Given the description of an element on the screen output the (x, y) to click on. 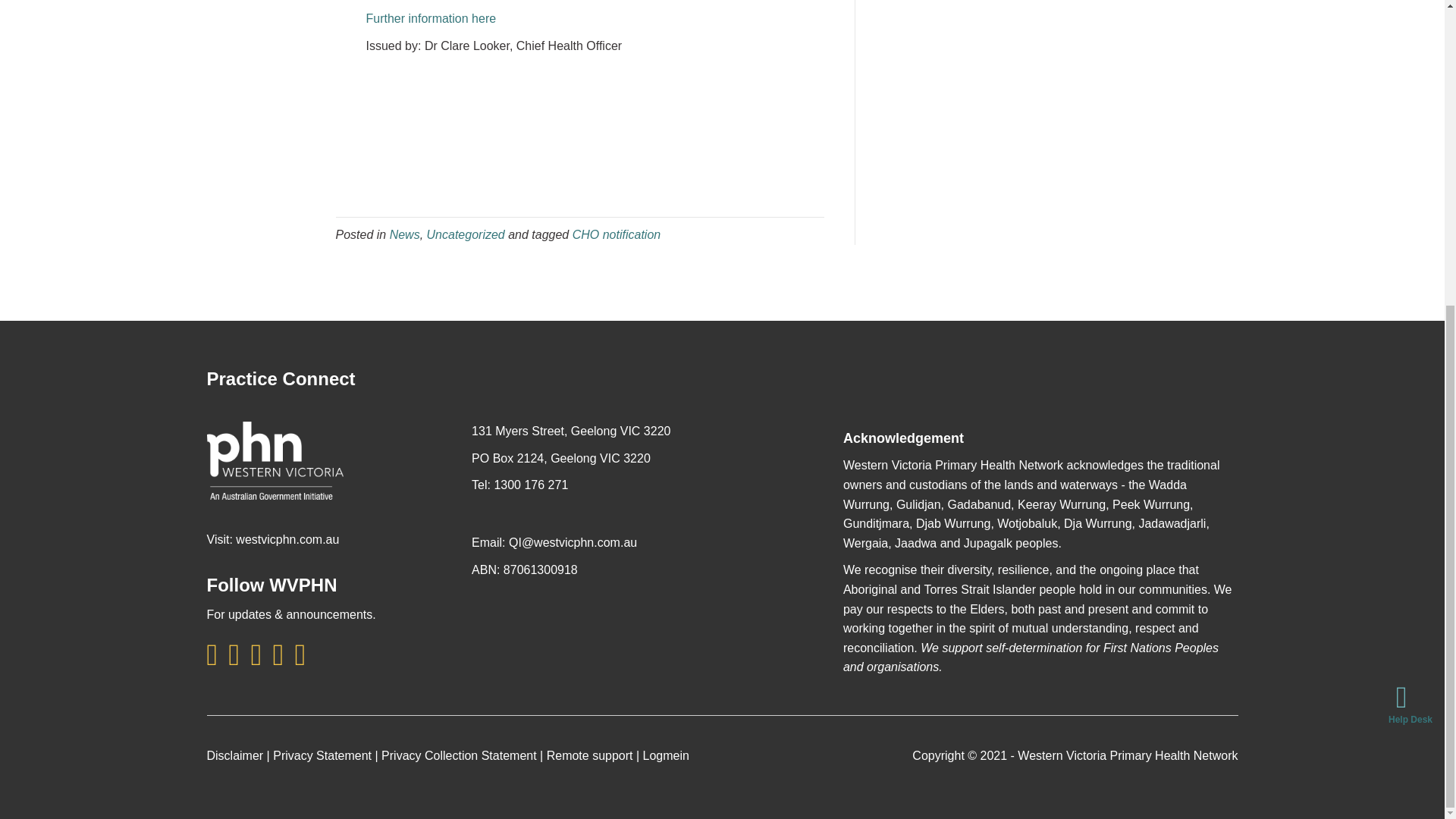
WestVic PHN (274, 460)
